Given the description of an element on the screen output the (x, y) to click on. 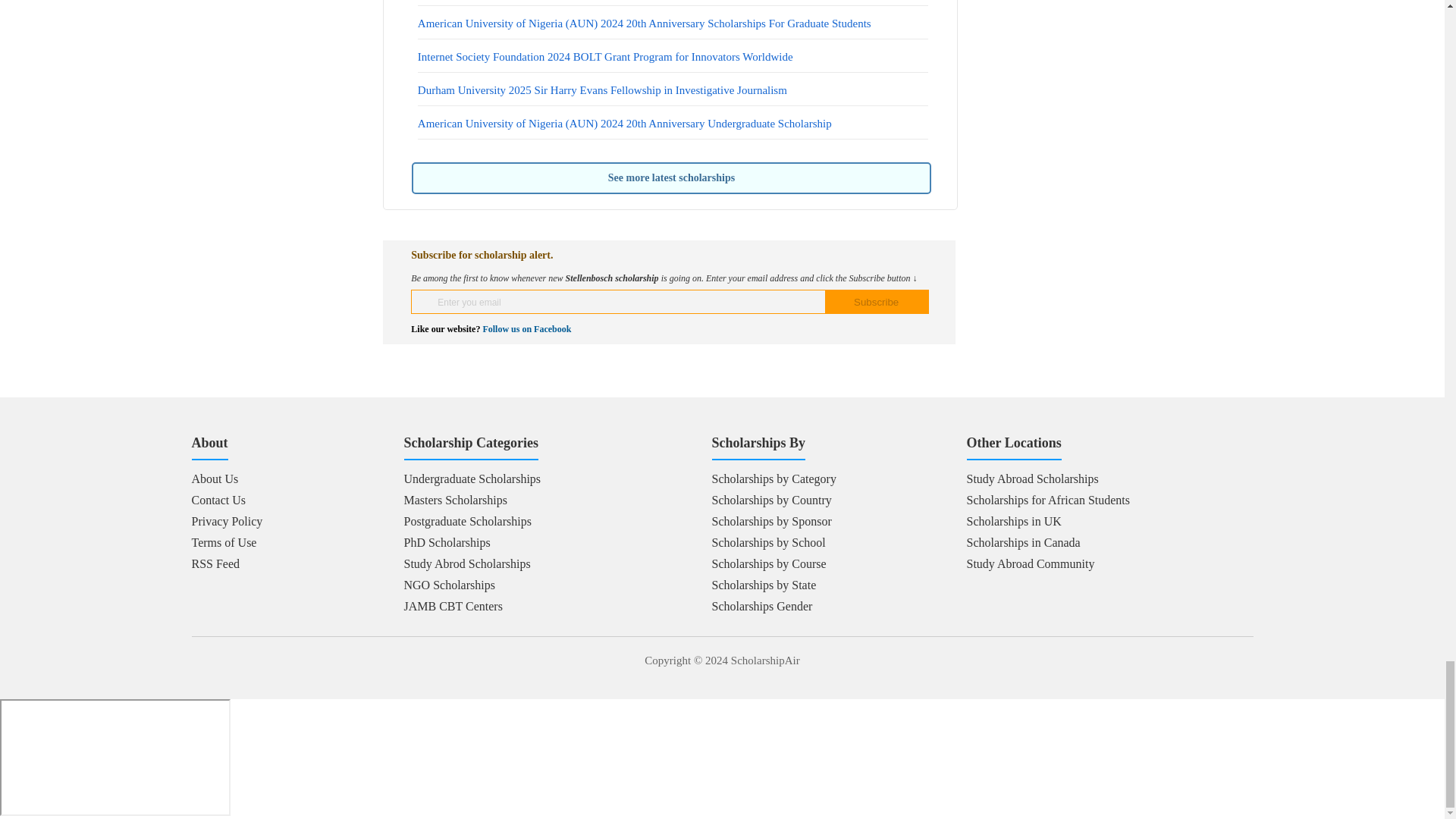
Subscribe (876, 301)
